Given the description of an element on the screen output the (x, y) to click on. 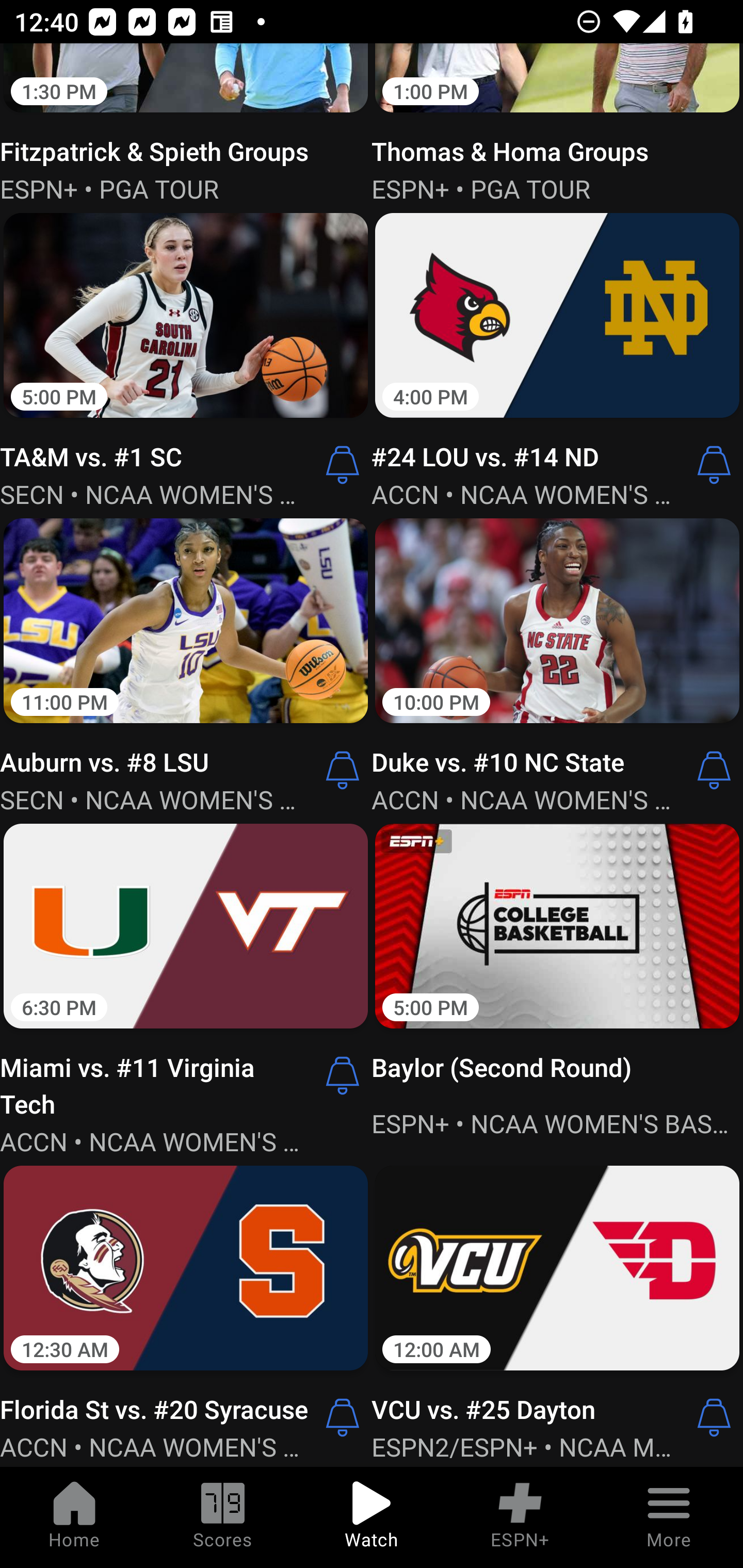
1:00 PM Thomas & Homa Groups ESPN+ • PGA TOUR (557, 124)
Alerts (342, 464)
Alerts (714, 464)
Alerts (342, 770)
Alerts (714, 770)
Alerts (342, 1074)
Alerts (342, 1417)
Alerts (714, 1417)
Home (74, 1517)
Scores (222, 1517)
ESPN+ (519, 1517)
More (668, 1517)
